Given the description of an element on the screen output the (x, y) to click on. 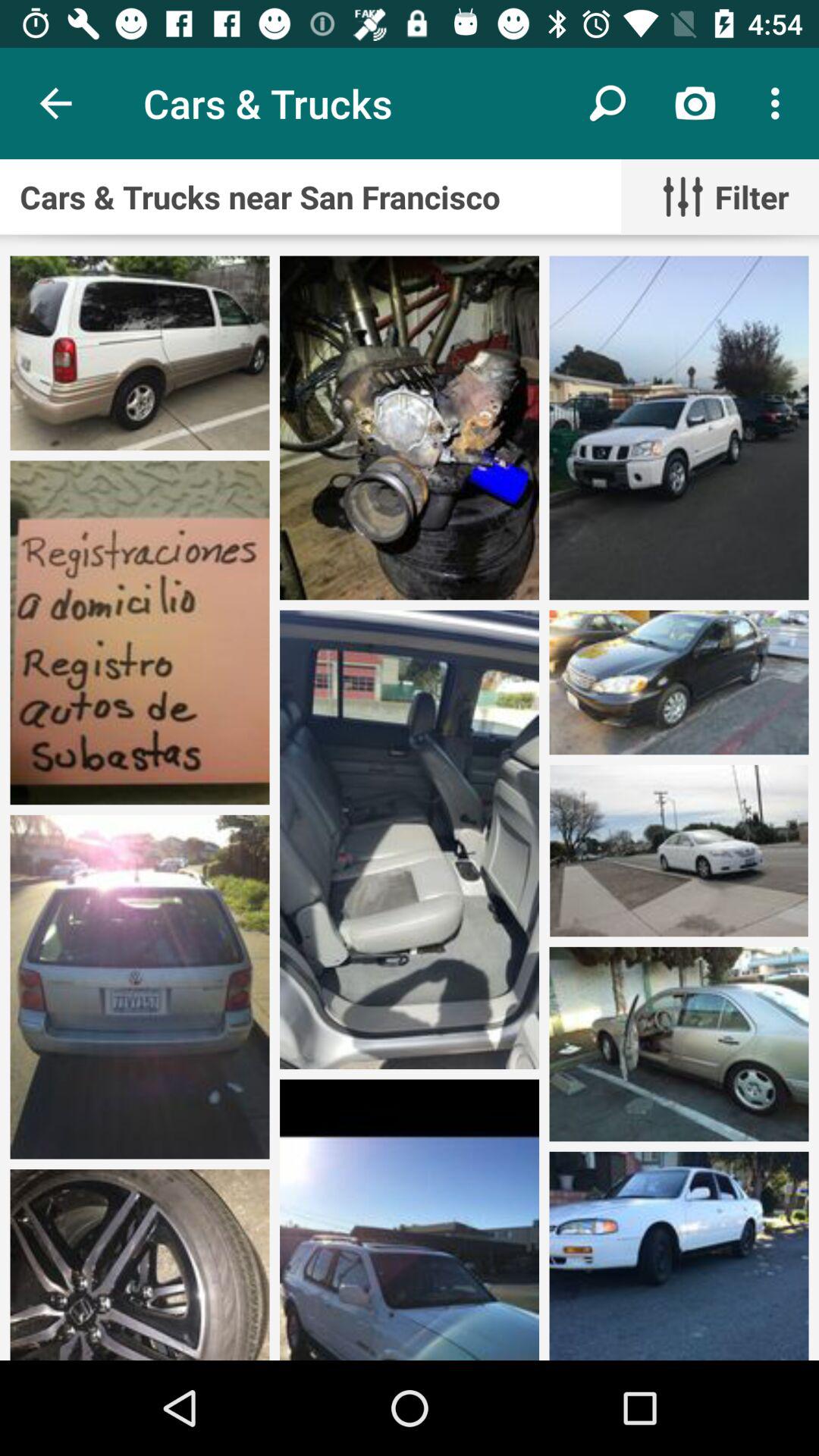
press icon to the right of cars & trucks icon (607, 103)
